Given the description of an element on the screen output the (x, y) to click on. 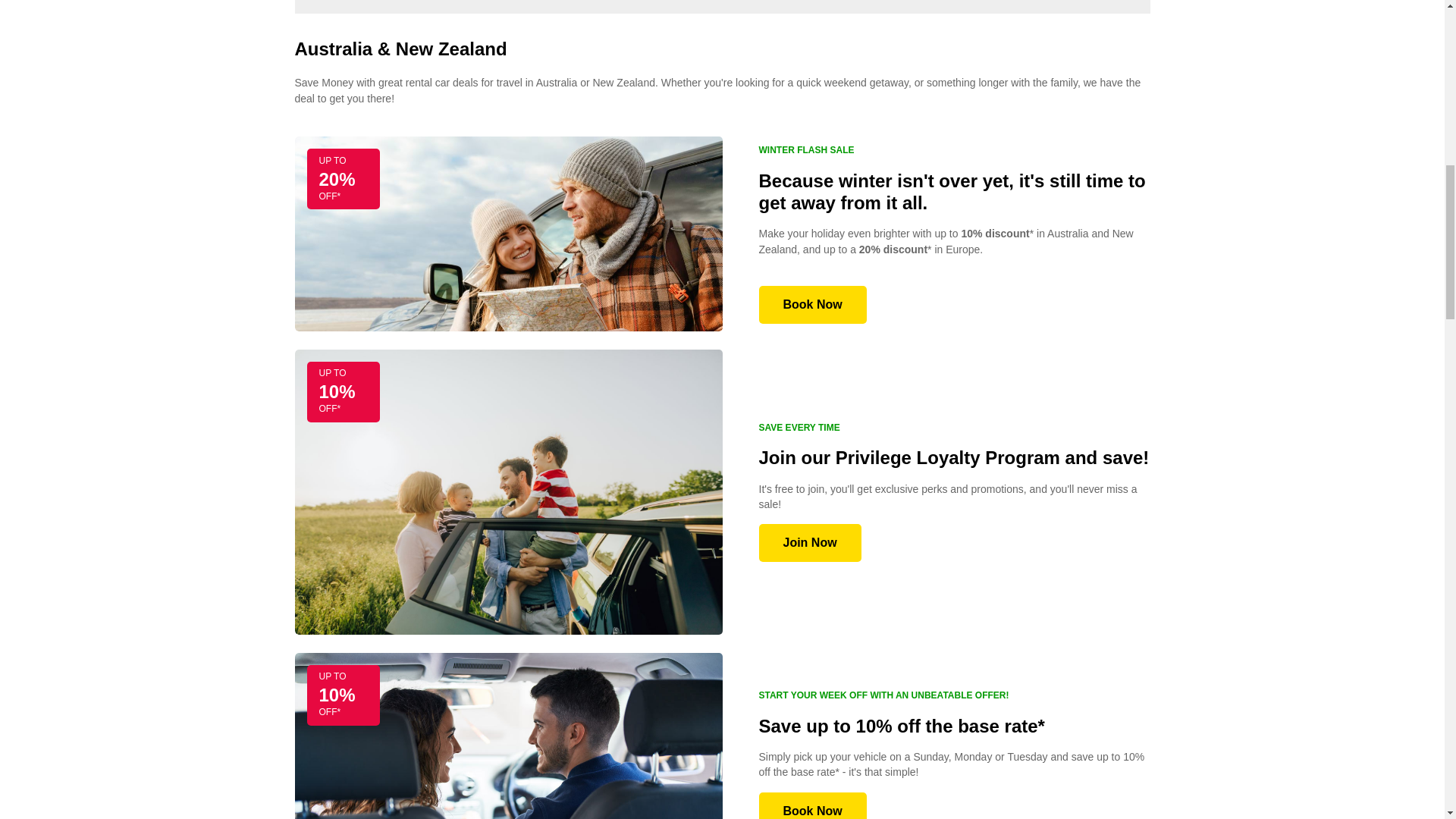
Book Now (812, 304)
Worldwide (647, 6)
Book Now (812, 805)
Join Now (809, 542)
Partners Offers (771, 6)
